Given the description of an element on the screen output the (x, y) to click on. 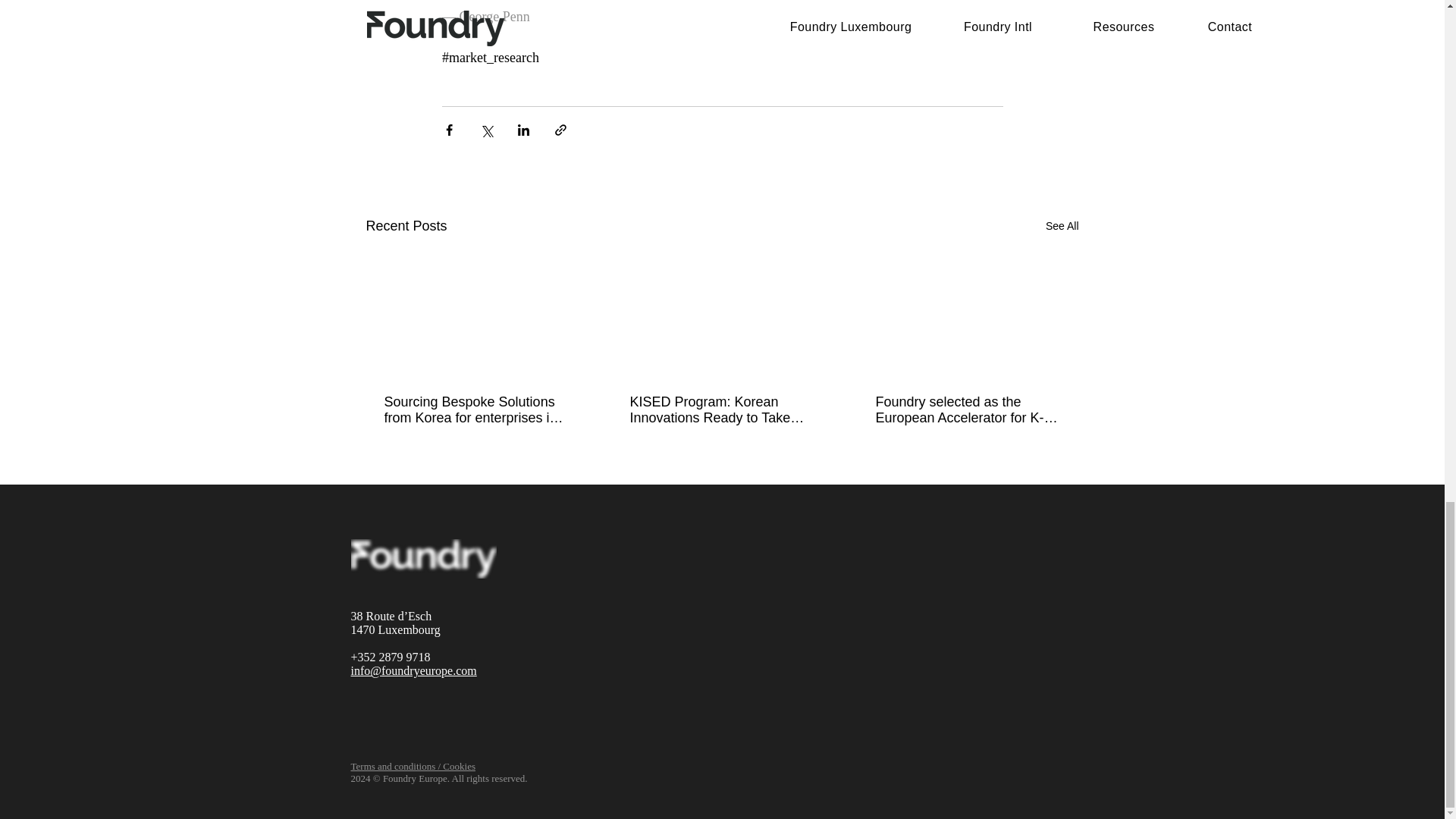
KISED Program: Korean Innovations Ready to Take Next Steps (720, 409)
See All (1061, 226)
